Given the description of an element on the screen output the (x, y) to click on. 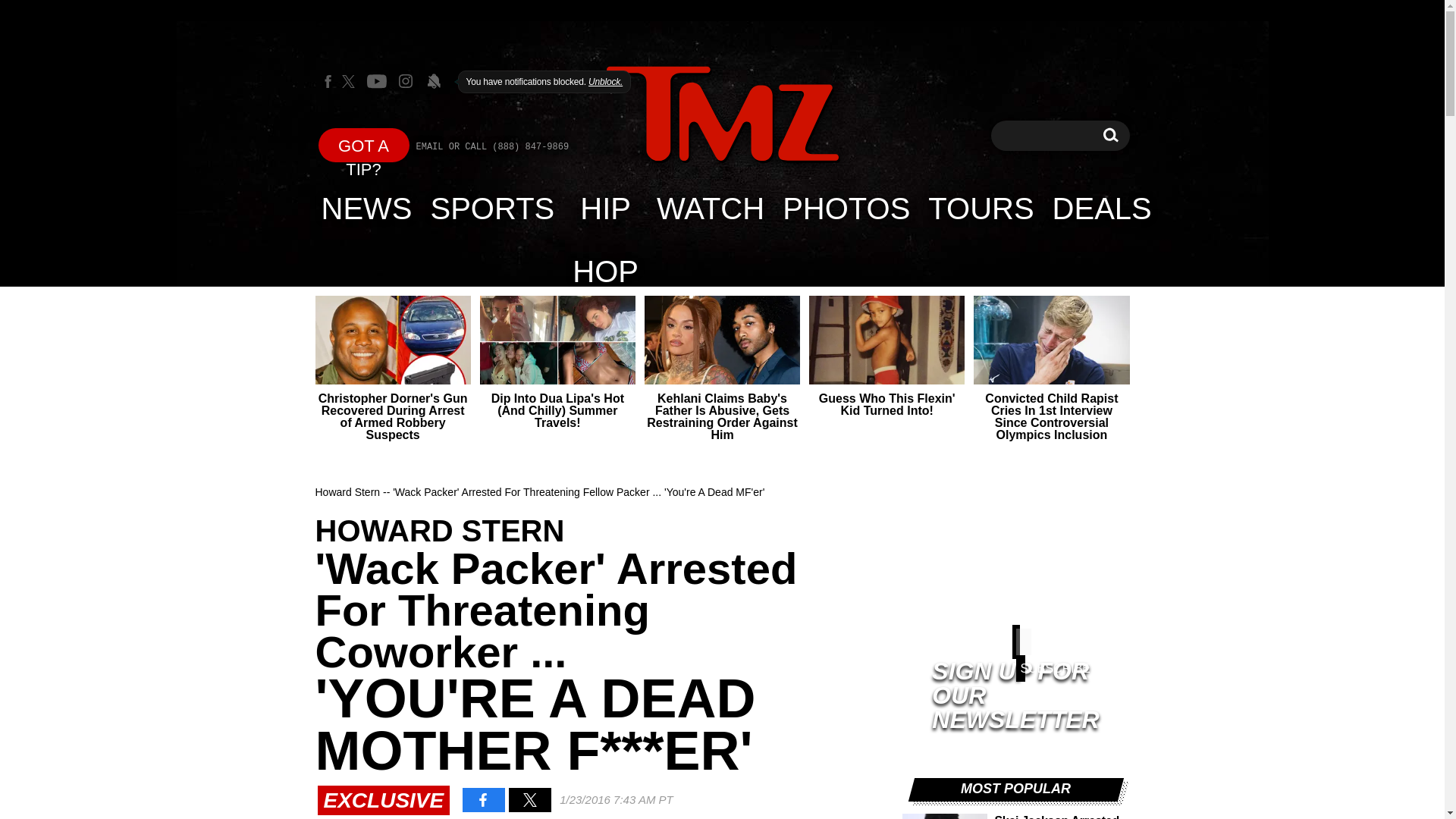
TMZ (722, 115)
HIP HOP (605, 207)
GOT A TIP? (363, 144)
TMZ (722, 113)
Search (1110, 134)
PHOTOS (1110, 135)
TOURS (845, 207)
WATCH (980, 207)
